Given the description of an element on the screen output the (x, y) to click on. 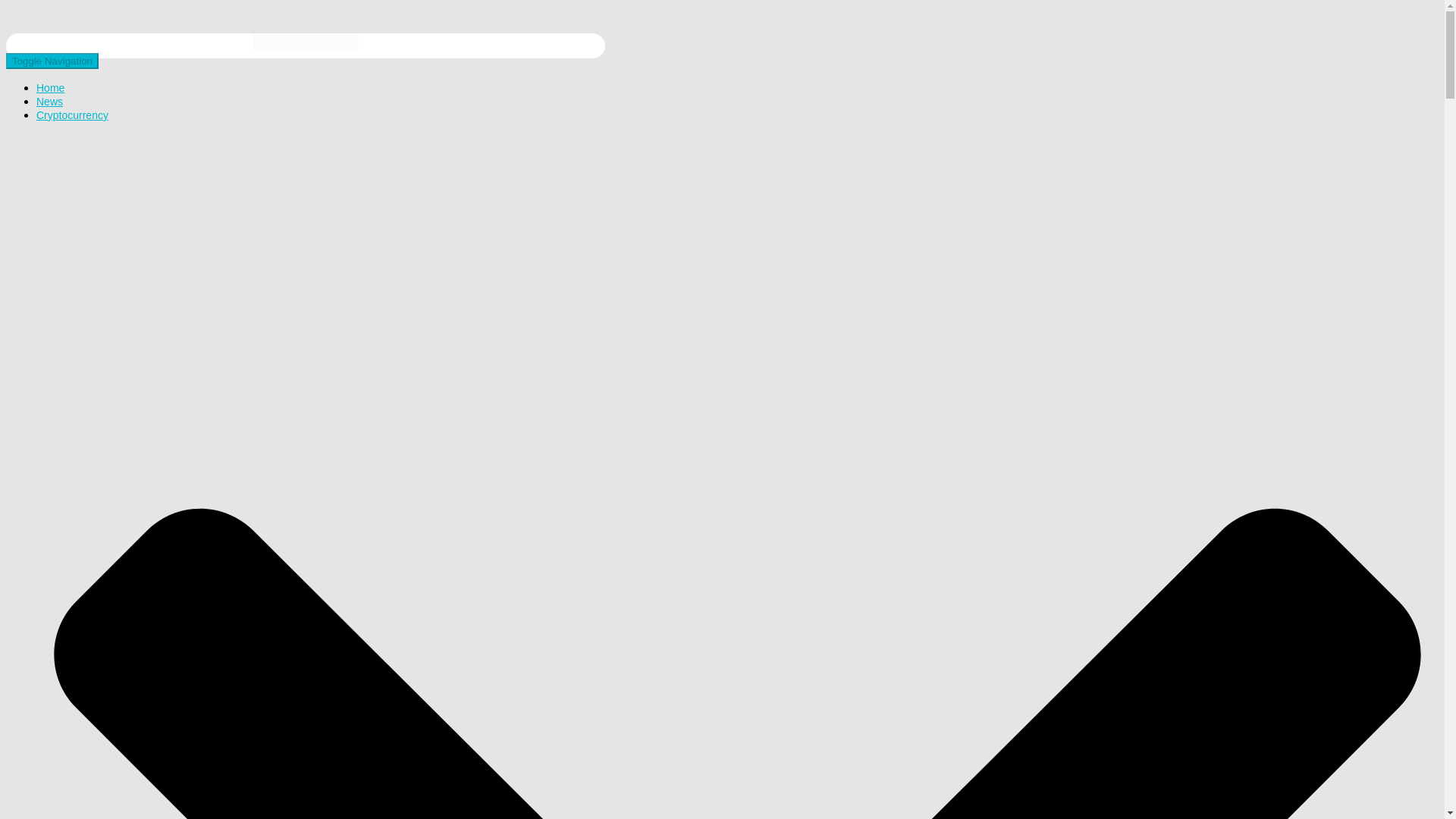
Toggle Navigation (52, 60)
News (49, 101)
Cyber Flows (305, 45)
News (49, 101)
Home (50, 87)
Home (50, 87)
